Given the description of an element on the screen output the (x, y) to click on. 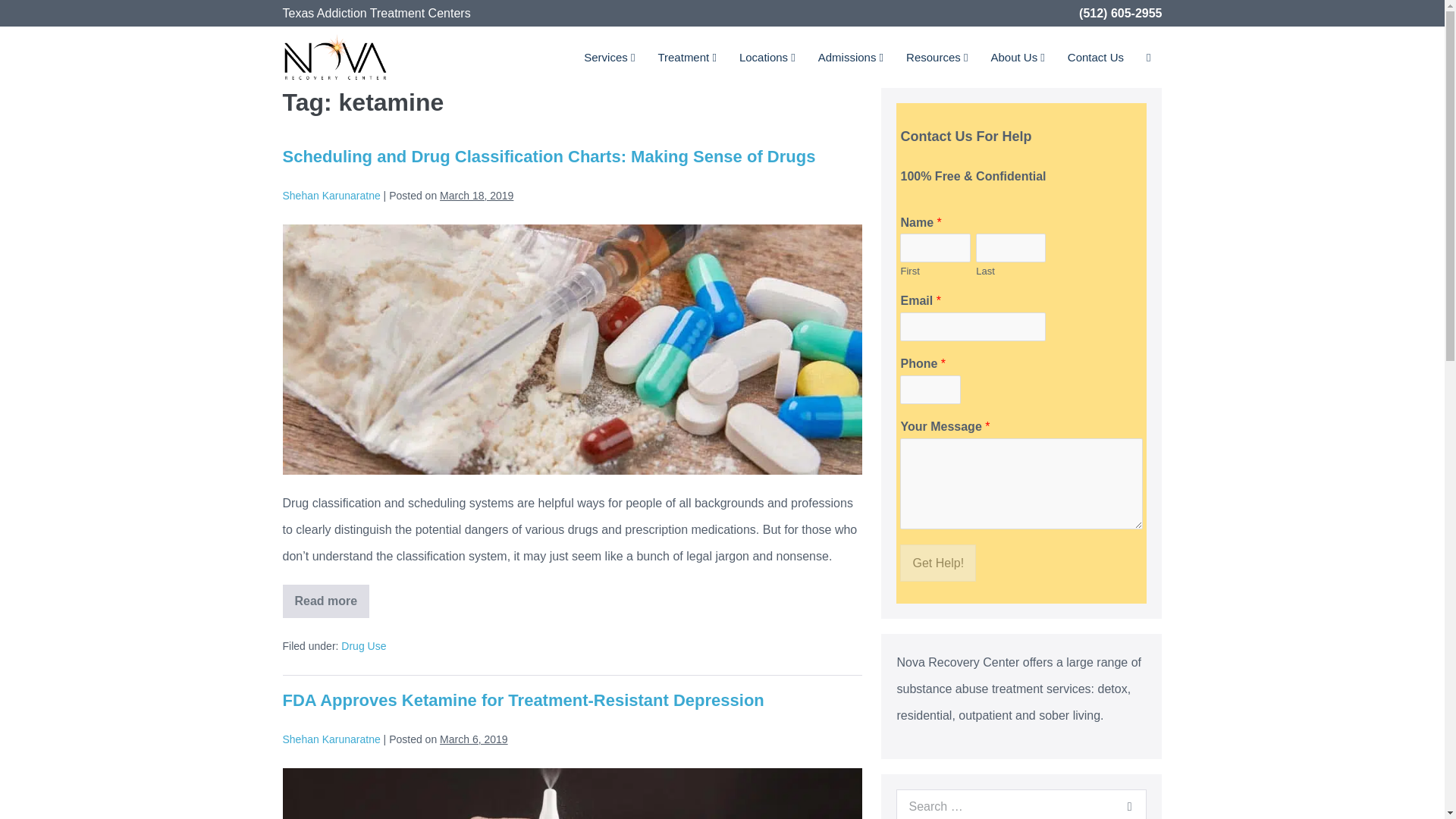
Services (609, 56)
Press enter to search (1021, 804)
Locations (767, 56)
Treatment (686, 56)
View all posts by Shehan Karunaratne (331, 739)
FDA Approves Ketamine for Treatment-Resistant Depression (522, 700)
Admissions (850, 56)
View all posts by Shehan Karunaratne (331, 195)
Nova Recovery Center Near Austin Texas (335, 55)
